Given the description of an element on the screen output the (x, y) to click on. 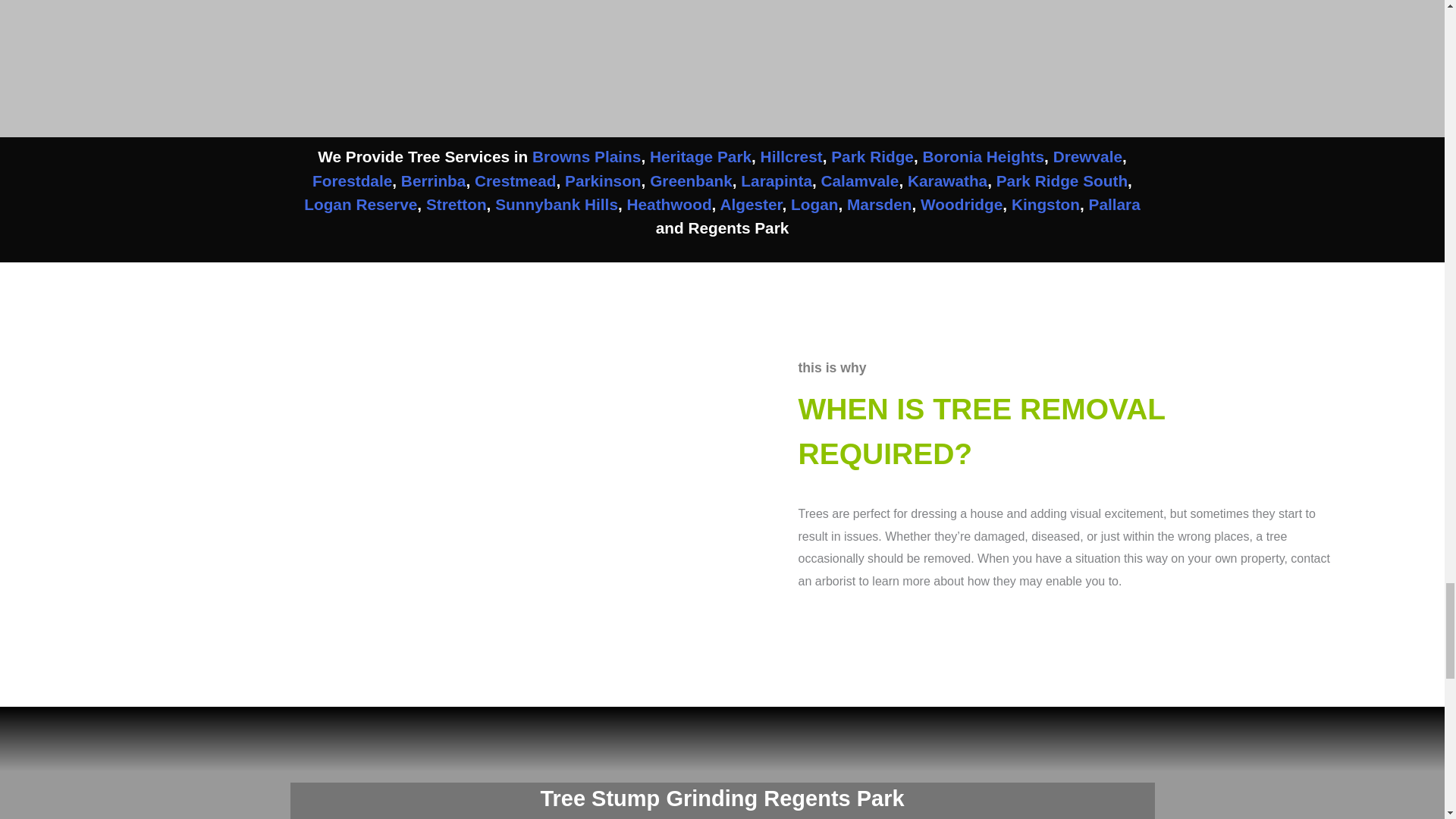
Park Ridge (872, 156)
Crestmead (515, 180)
Forestdale (352, 180)
Park Ridge South (1060, 180)
Browns Plains (586, 156)
Greenbank (690, 180)
Drewvale (1087, 156)
Heritage Park (700, 156)
Boronia Heights (982, 156)
Hillcrest (791, 156)
Calamvale (860, 180)
Karawatha (947, 180)
Larapinta (776, 180)
Parkinson (603, 180)
Berrinba (433, 180)
